Given the description of an element on the screen output the (x, y) to click on. 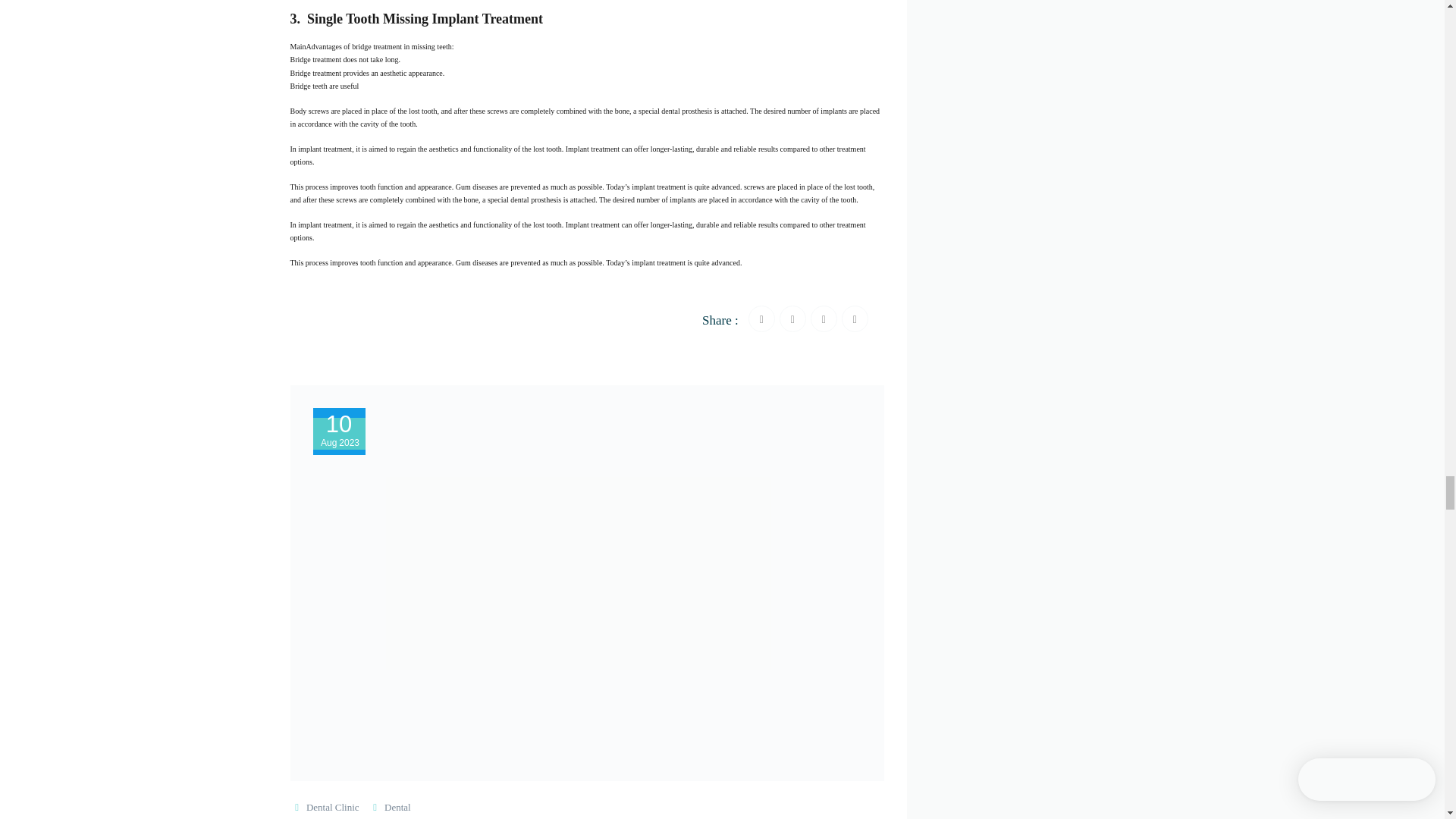
Missing tooth with dental implant (593, 224)
